Given the description of an element on the screen output the (x, y) to click on. 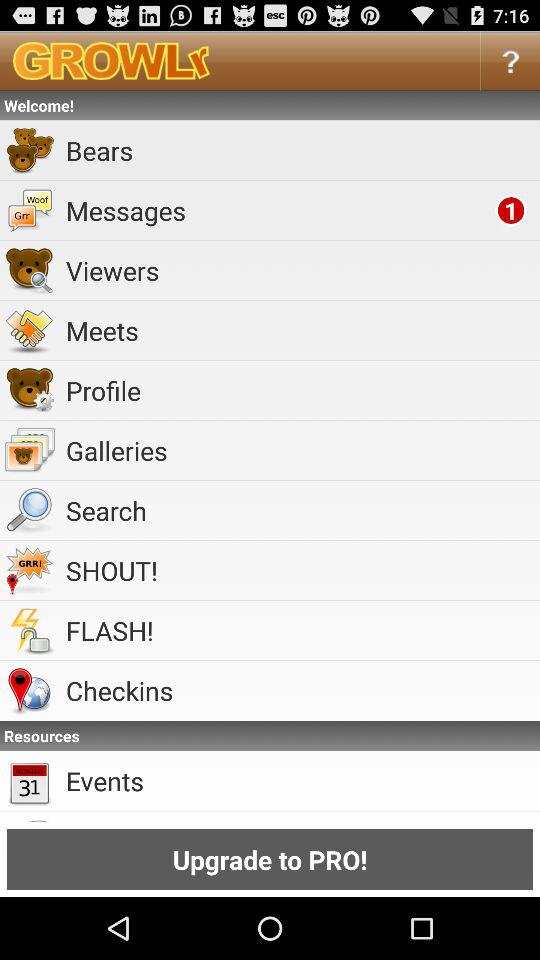
flip until the events app (299, 780)
